Given the description of an element on the screen output the (x, y) to click on. 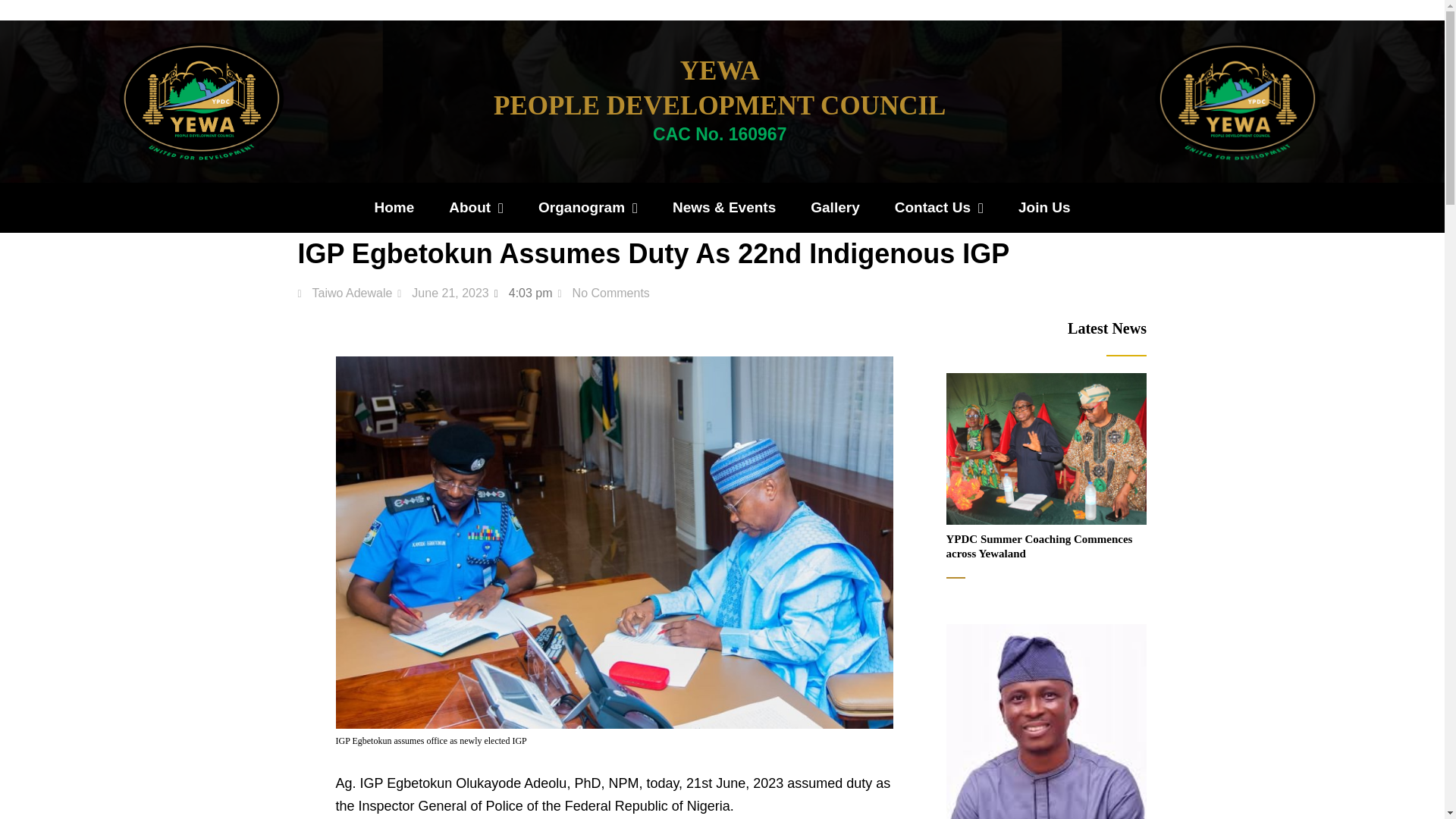
Contact Us (938, 207)
Home (393, 207)
Join Us (1044, 207)
About (475, 207)
Taiwo Adewale (344, 292)
June 21, 2023 (442, 292)
Gallery (834, 207)
Organogram (587, 207)
